Given the description of an element on the screen output the (x, y) to click on. 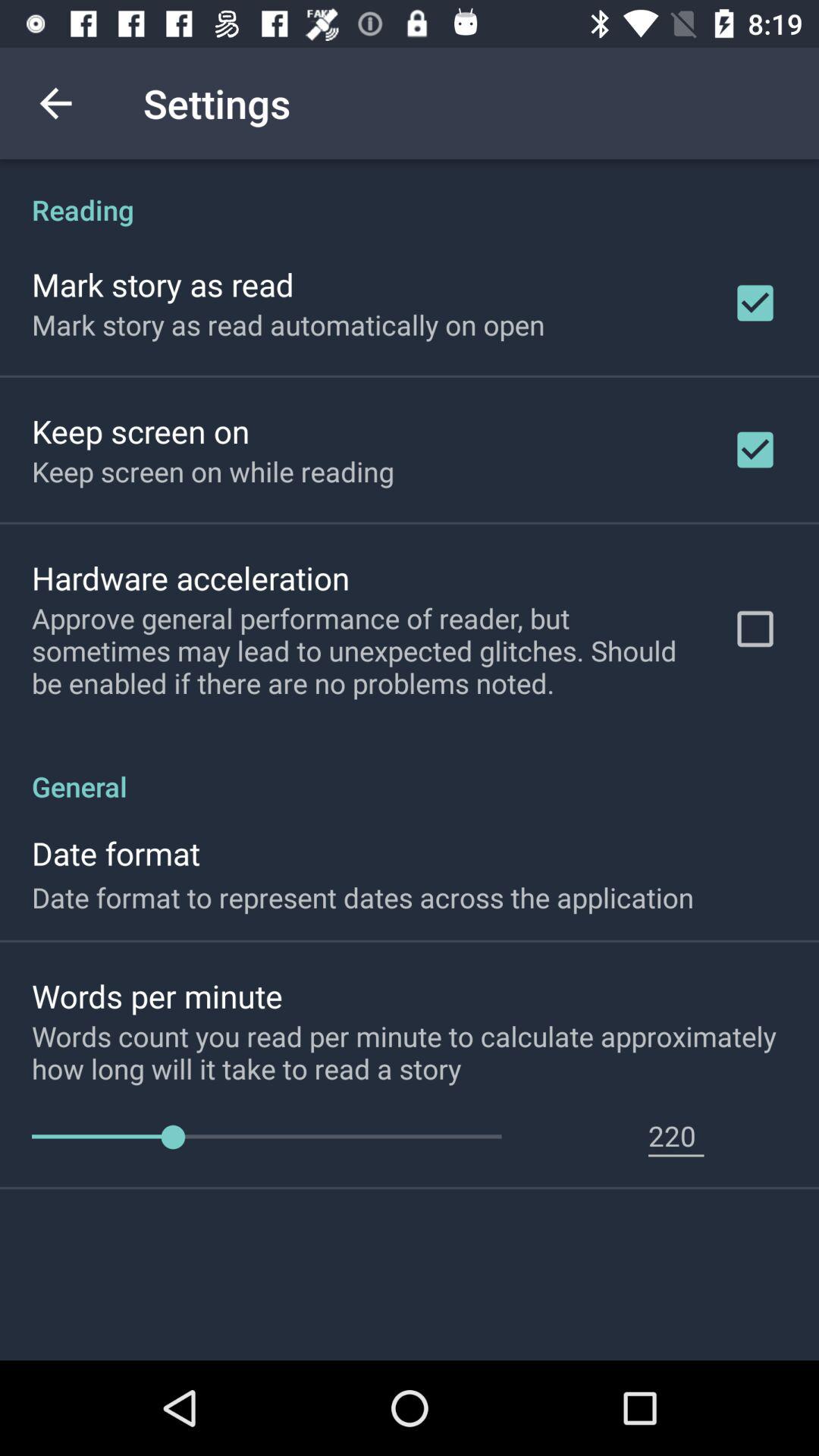
tap icon above 220 (425, 1052)
